Given the description of an element on the screen output the (x, y) to click on. 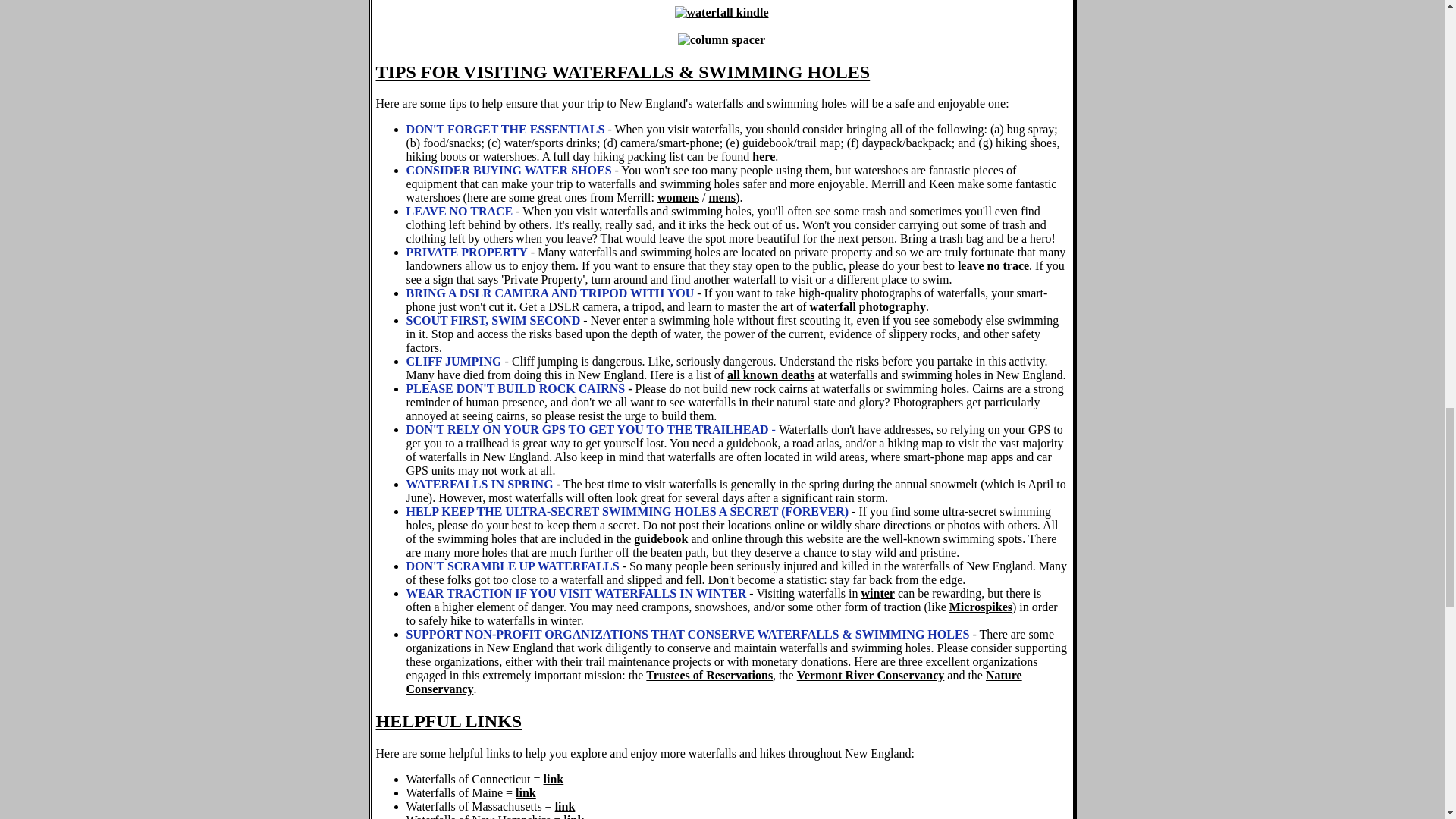
link (553, 779)
all known deaths (770, 374)
here (763, 155)
guidebook (660, 538)
leave no trace (993, 265)
waterfall photography (867, 306)
link (574, 816)
link (525, 792)
Nature Conservancy (714, 682)
winter (878, 593)
link (564, 806)
Microspikes (980, 606)
Trustees of Reservations (709, 675)
womens (678, 196)
Vermont River Conservancy (870, 675)
